Given the description of an element on the screen output the (x, y) to click on. 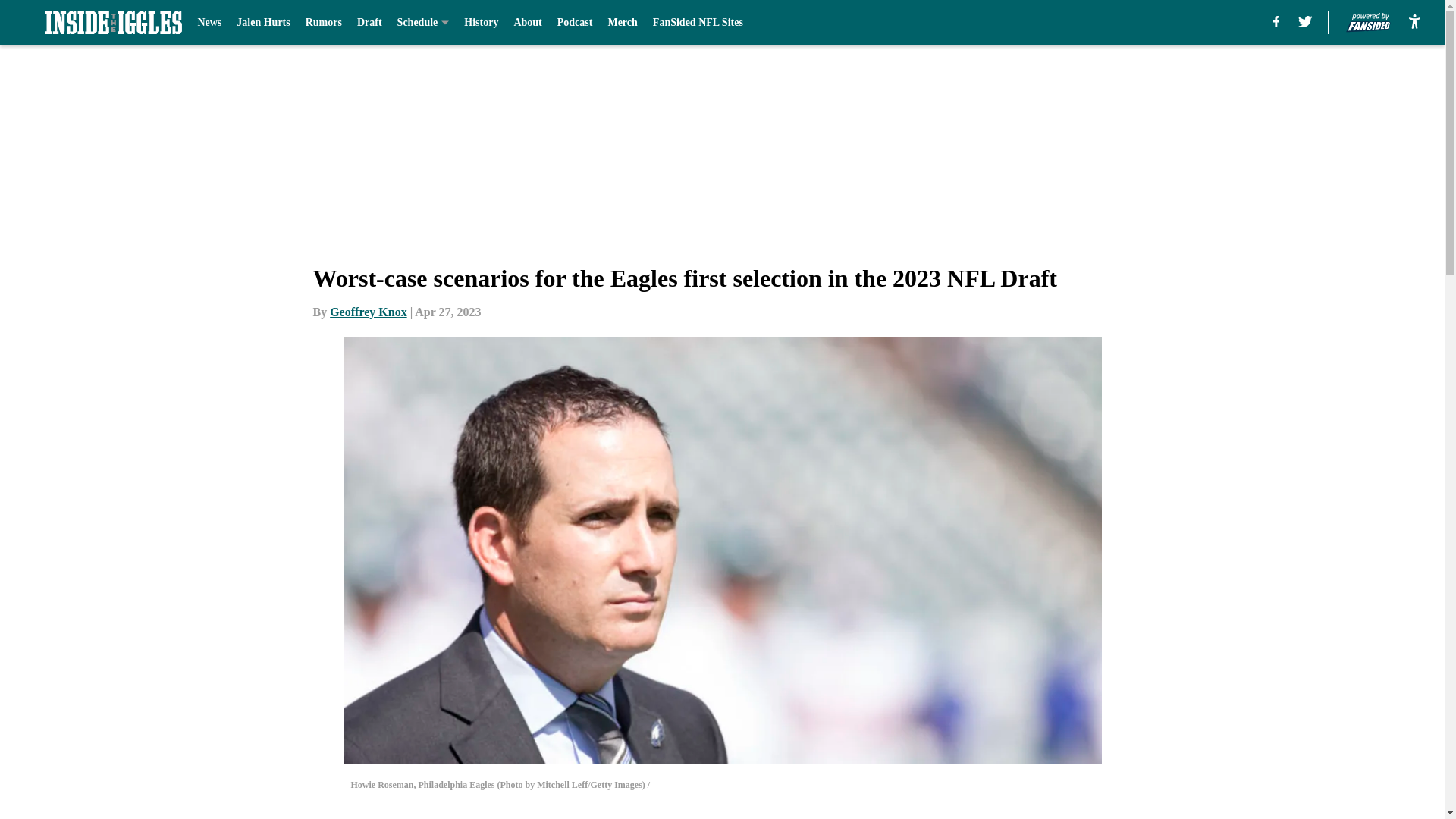
News (208, 22)
Jalen Hurts (262, 22)
Podcast (574, 22)
Rumors (323, 22)
Geoffrey Knox (368, 311)
Merch (622, 22)
History (480, 22)
About (527, 22)
Draft (368, 22)
FanSided NFL Sites (697, 22)
